Given the description of an element on the screen output the (x, y) to click on. 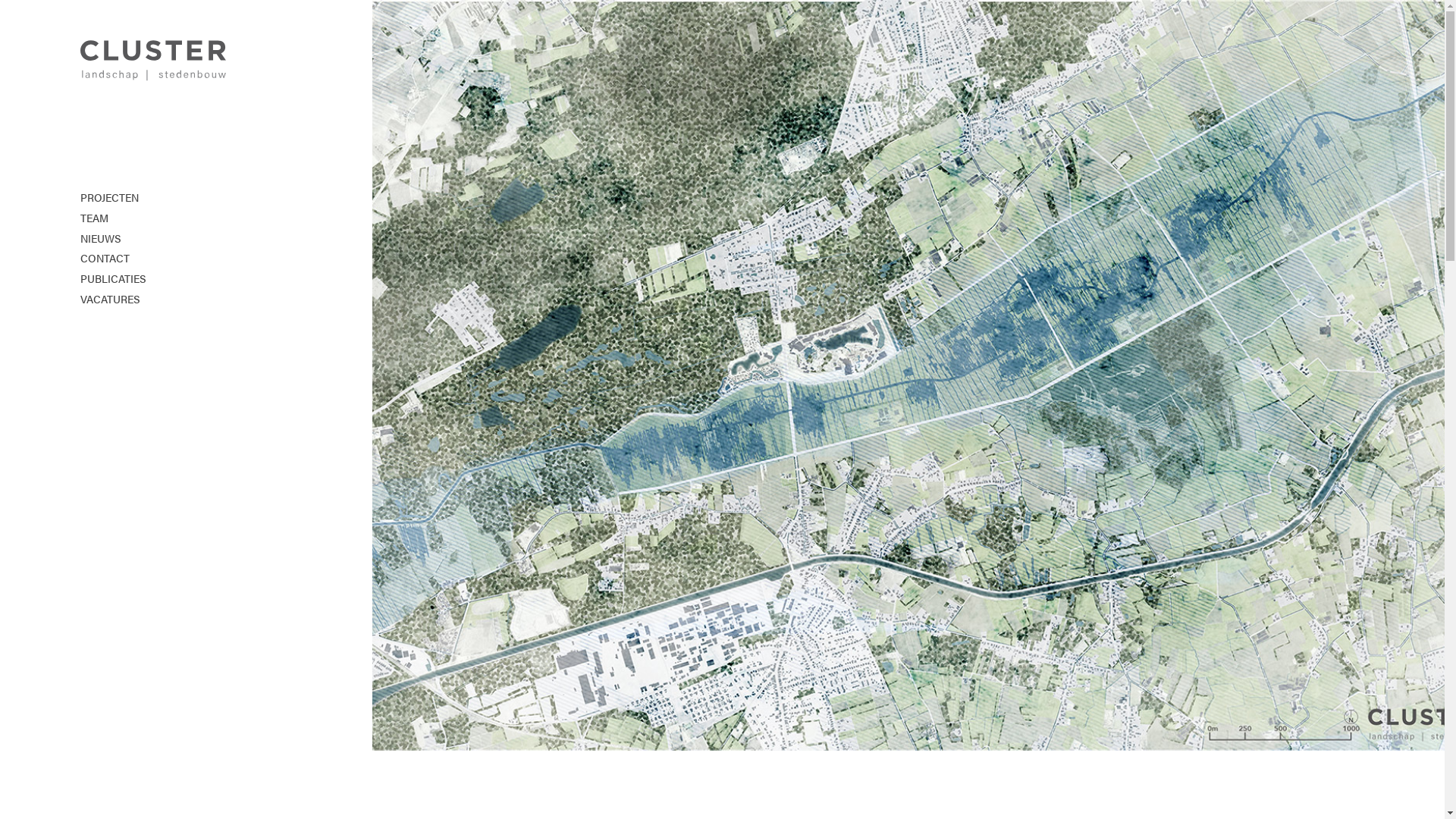
PROJECTEN Element type: text (152, 197)
NIEUWS Element type: text (152, 238)
CONTACT Element type: text (152, 258)
TEAM Element type: text (152, 217)
VACATURES Element type: text (152, 299)
PUBLICATIES Element type: text (152, 278)
